Given the description of an element on the screen output the (x, y) to click on. 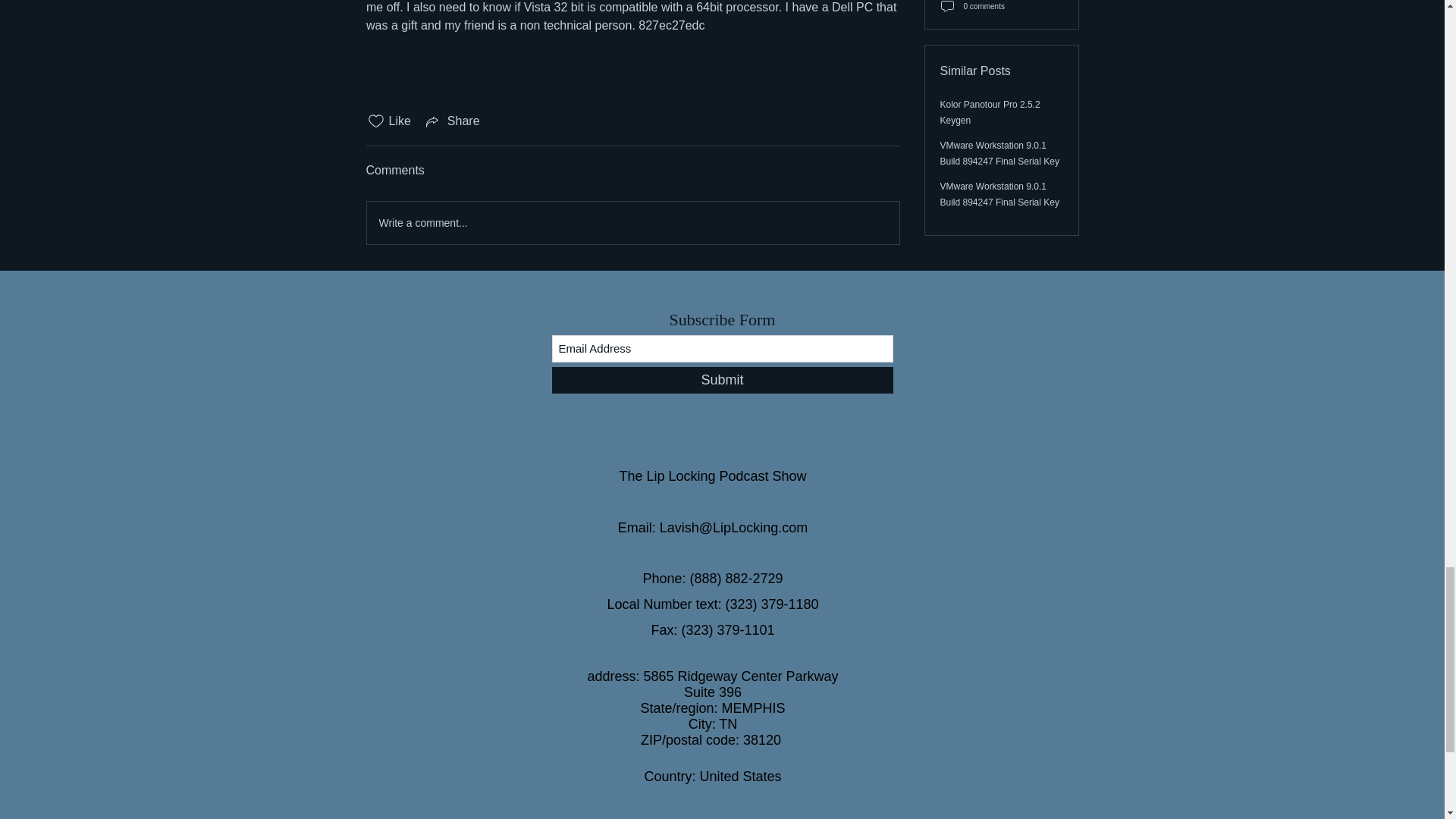
Write a comment... (632, 222)
Submit (722, 379)
Share (451, 121)
